Given the description of an element on the screen output the (x, y) to click on. 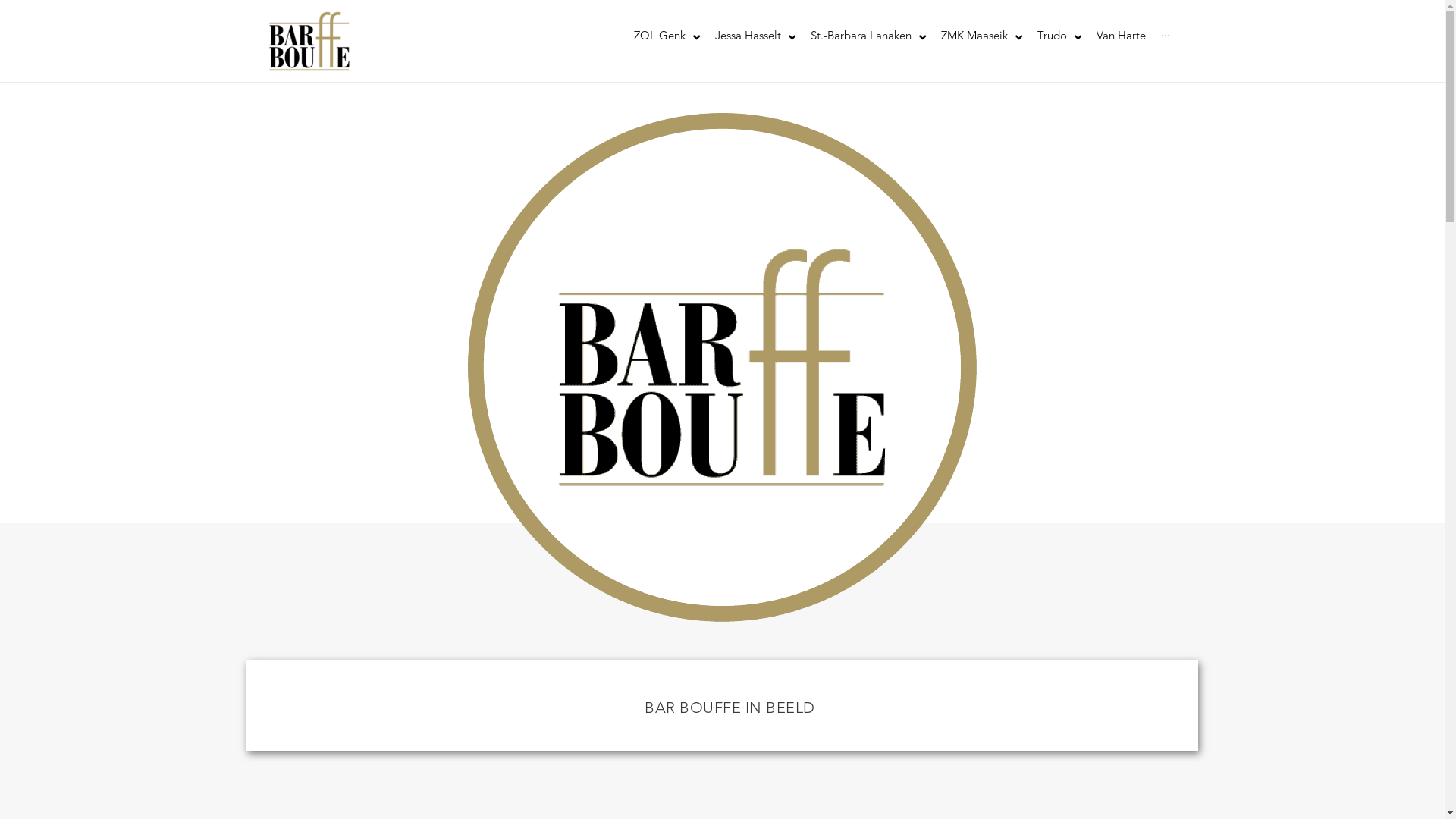
Trudo Element type: text (1058, 36)
ZOL Genk Element type: text (666, 36)
St.-Barbara Lanaken Element type: text (867, 36)
Van Harte Element type: text (1120, 36)
Jessa Hasselt Element type: text (754, 36)
Barbouffe logo alg Element type: hover (721, 366)
ZMK Maaseik Element type: text (980, 36)
